Given the description of an element on the screen output the (x, y) to click on. 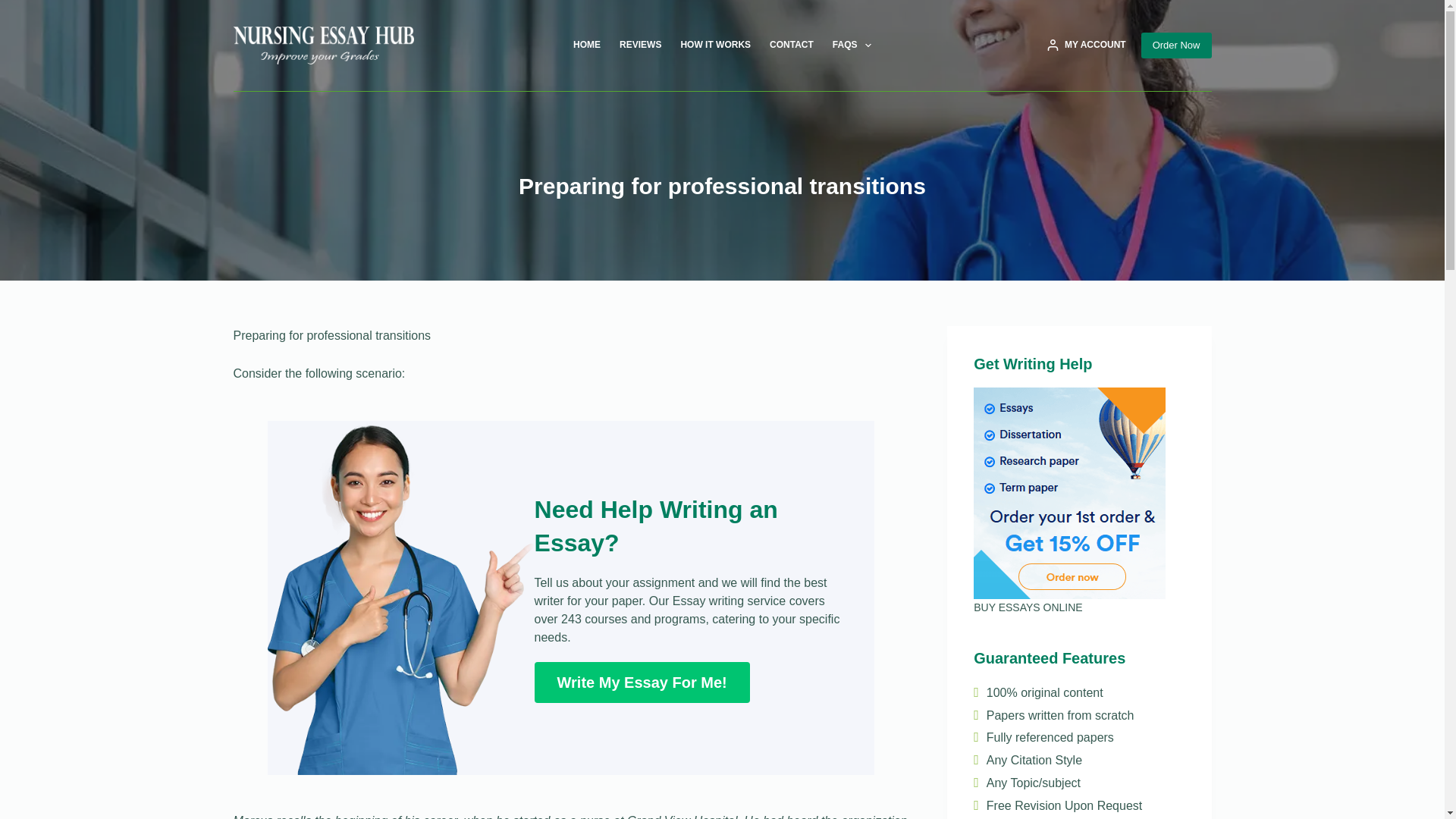
Write My Essay For Me! (641, 681)
Skip to content (15, 7)
Preparing for professional transitions (722, 185)
MY ACCOUNT (1085, 45)
Order Now (1176, 45)
HOW IT WORKS (715, 45)
